Given the description of an element on the screen output the (x, y) to click on. 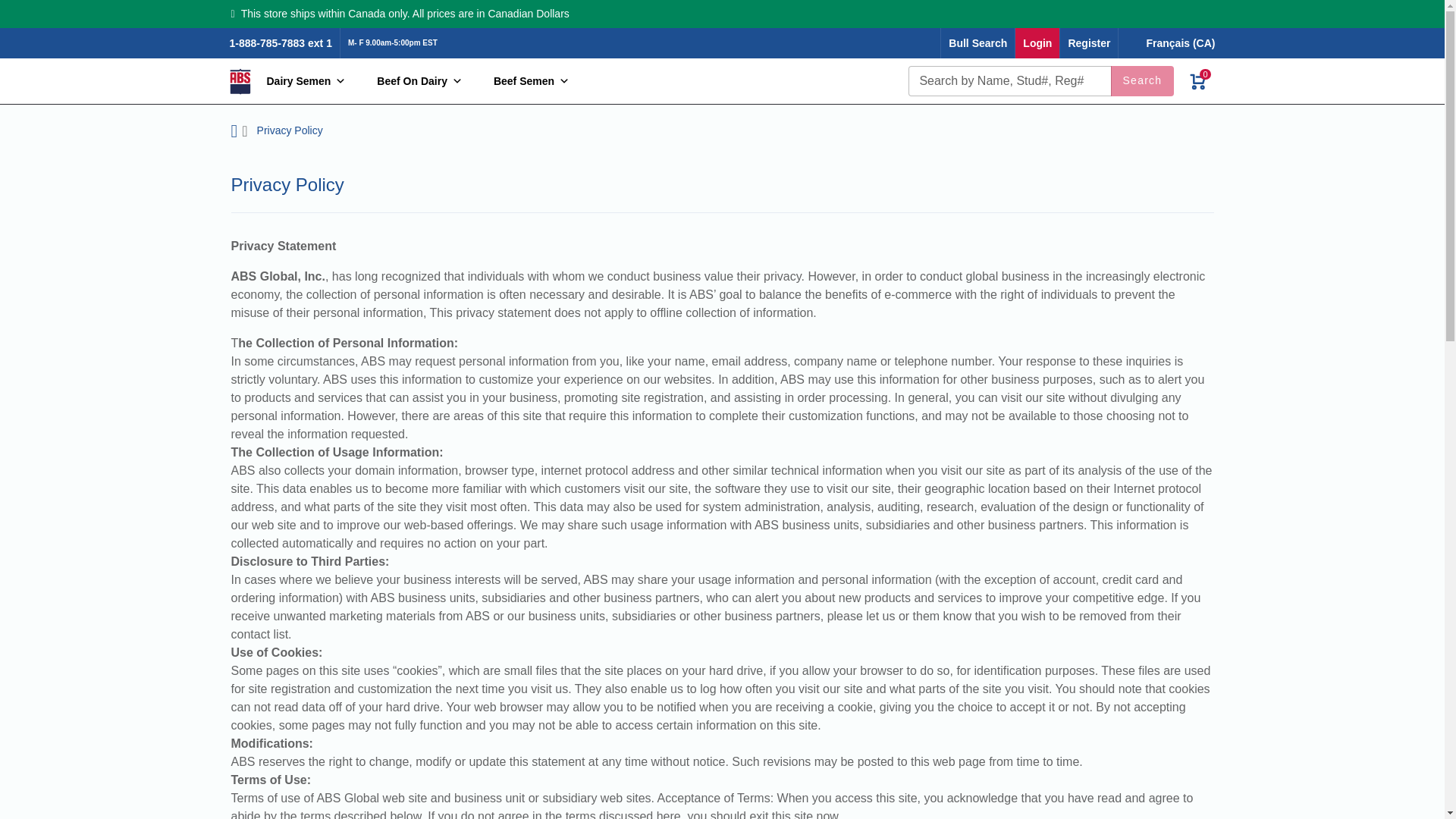
Beef On Dairy (415, 81)
1-888-785-7883 ext 1 (280, 42)
M- F 9.00am-5:00pm EST (392, 42)
Bull Search (977, 42)
Dairy Semen (301, 81)
Beef Semen (526, 81)
Login (1036, 42)
Register (1088, 42)
Privacy Policy (290, 130)
